Given the description of an element on the screen output the (x, y) to click on. 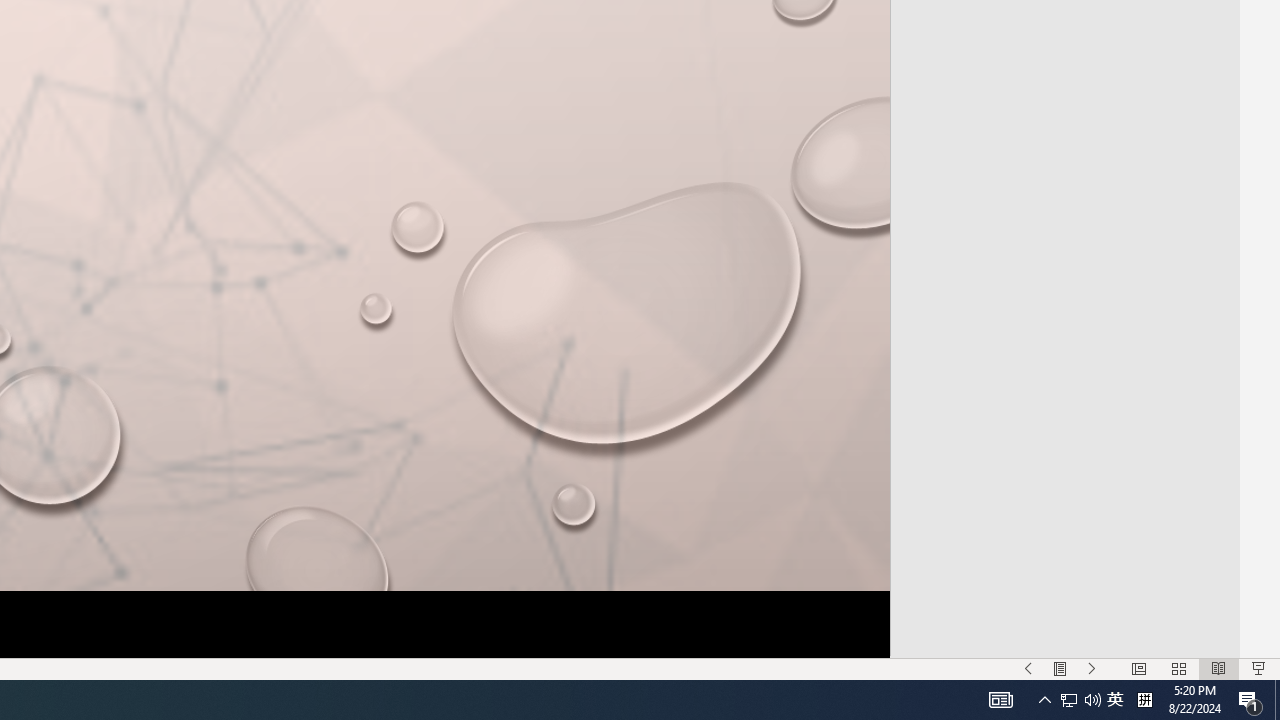
Action Center, 1 new notification (1250, 699)
Slide Show Next On (1092, 668)
Slide Show Previous On (1028, 668)
Menu On (1060, 668)
